Given the description of an element on the screen output the (x, y) to click on. 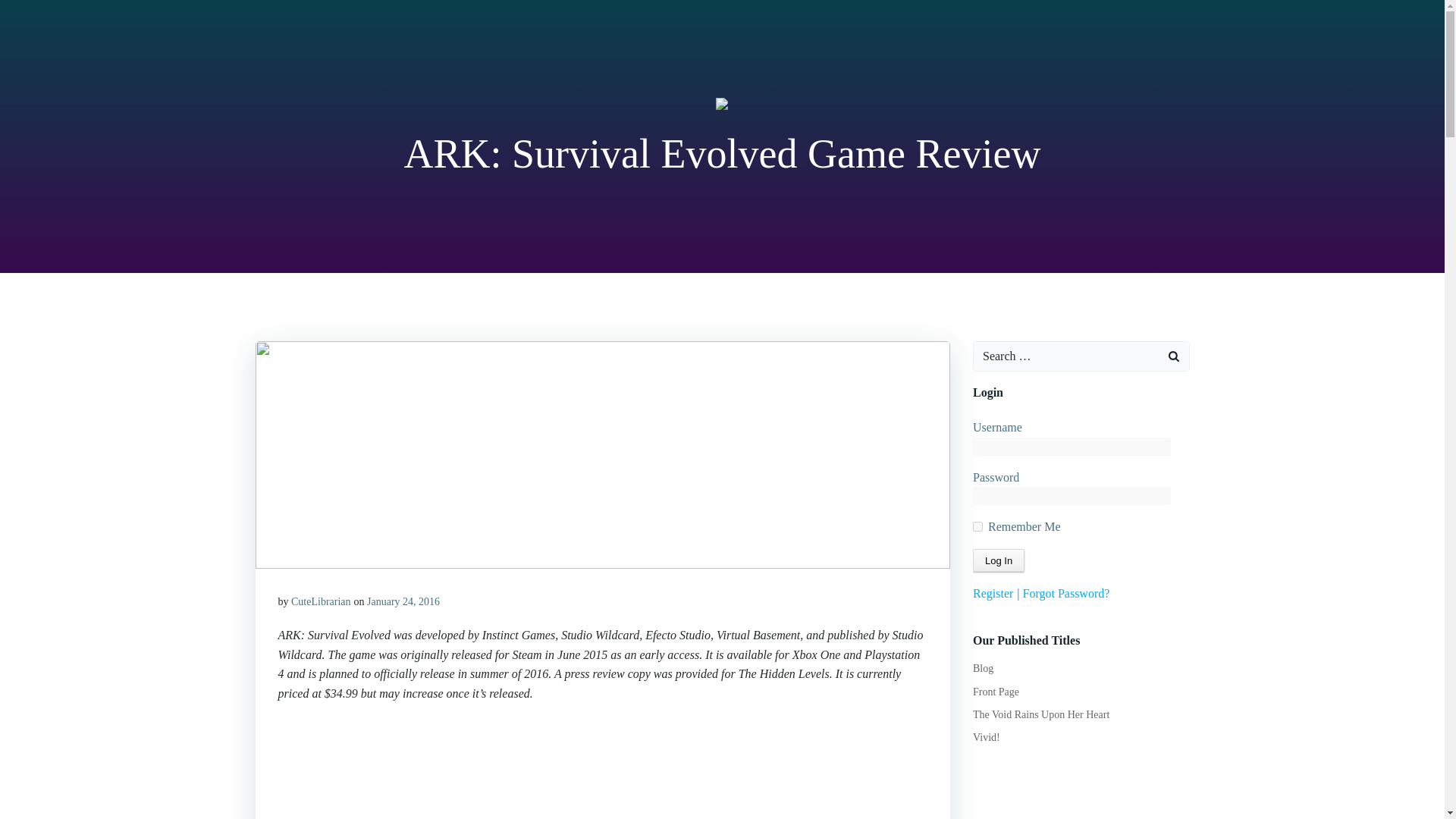
Register (992, 593)
January 24, 2016 (402, 601)
Log In (998, 559)
CuteLibrarian (320, 601)
forever (977, 526)
Log In (998, 559)
Search  (29, 14)
